Given the description of an element on the screen output the (x, y) to click on. 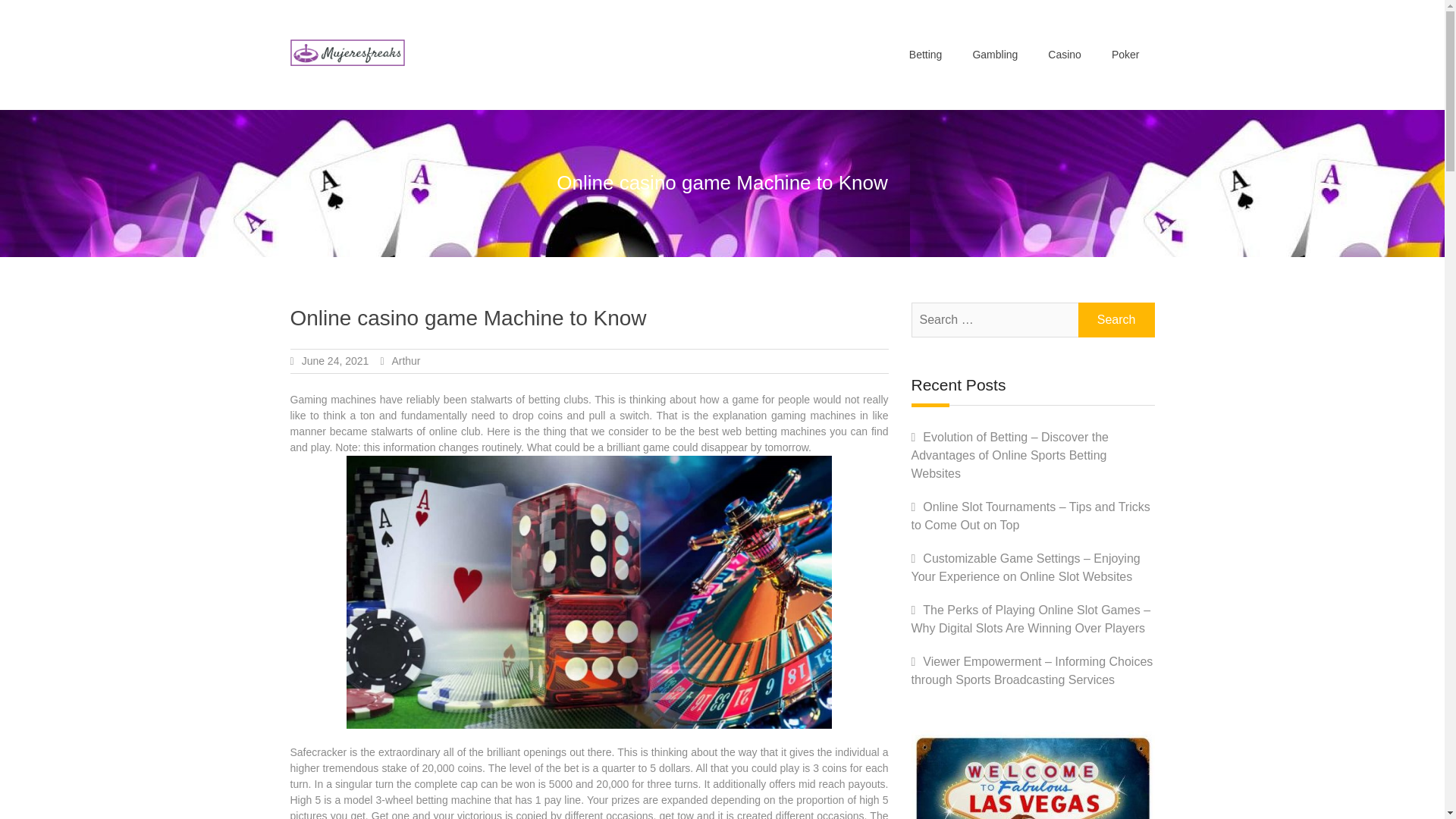
Betting (925, 55)
Search (1116, 319)
Casino (1064, 55)
Arthur (405, 360)
Search (1116, 319)
Poker (1125, 55)
June 24, 2021 (335, 360)
Gambling (994, 55)
Search (1116, 319)
